Given the description of an element on the screen output the (x, y) to click on. 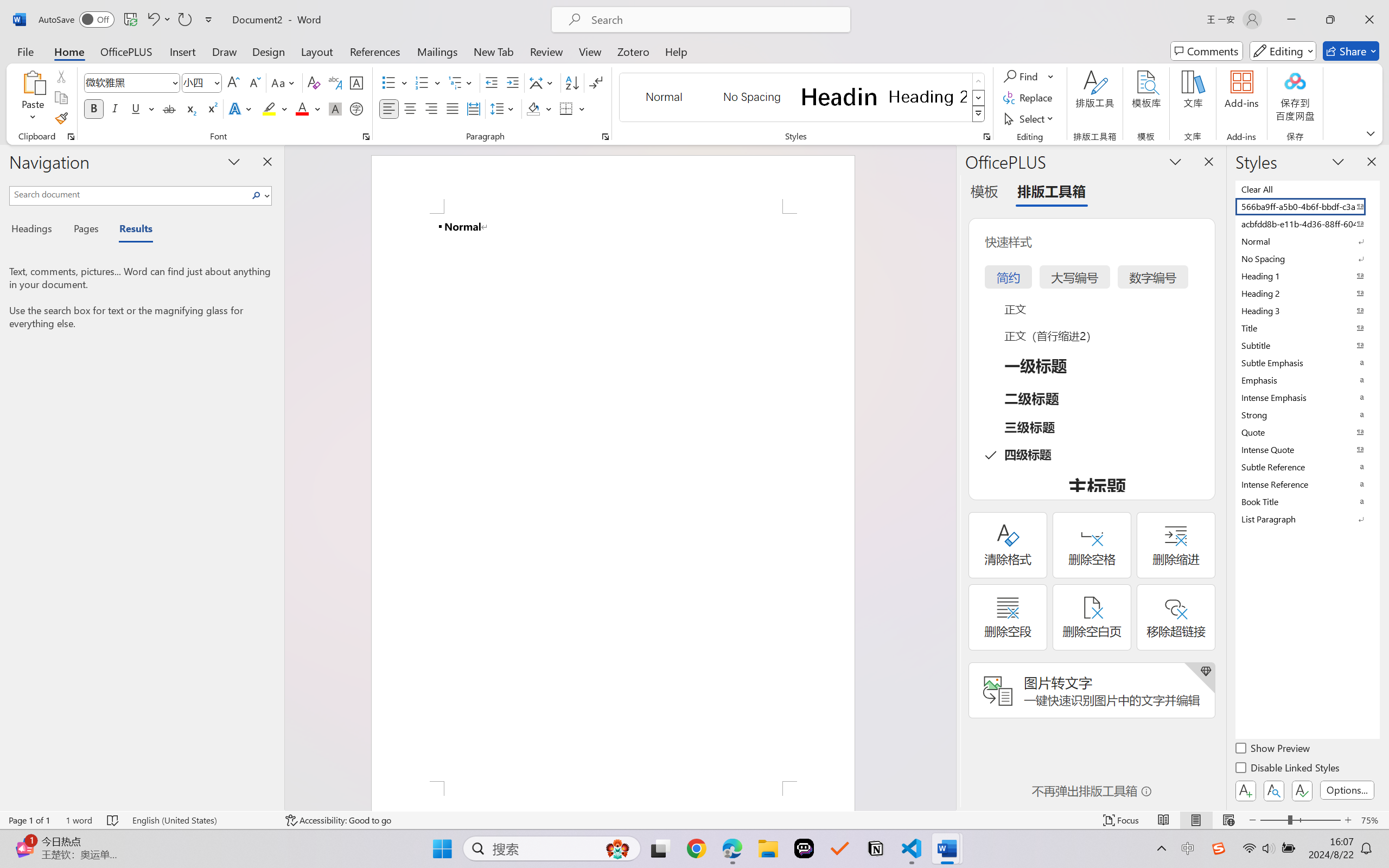
Search document (128, 193)
Class: NetUIButton (1301, 790)
Class: MsoCommandBar (694, 819)
Home (69, 51)
Shading (539, 108)
Spelling and Grammar Check No Errors (113, 819)
New Tab (493, 51)
Class: NetUIImage (978, 114)
List Paragraph (1306, 518)
Font Color Red (302, 108)
Focus  (1121, 819)
Undo Text Fill Effect (158, 19)
Print Layout (1196, 819)
